Given the description of an element on the screen output the (x, y) to click on. 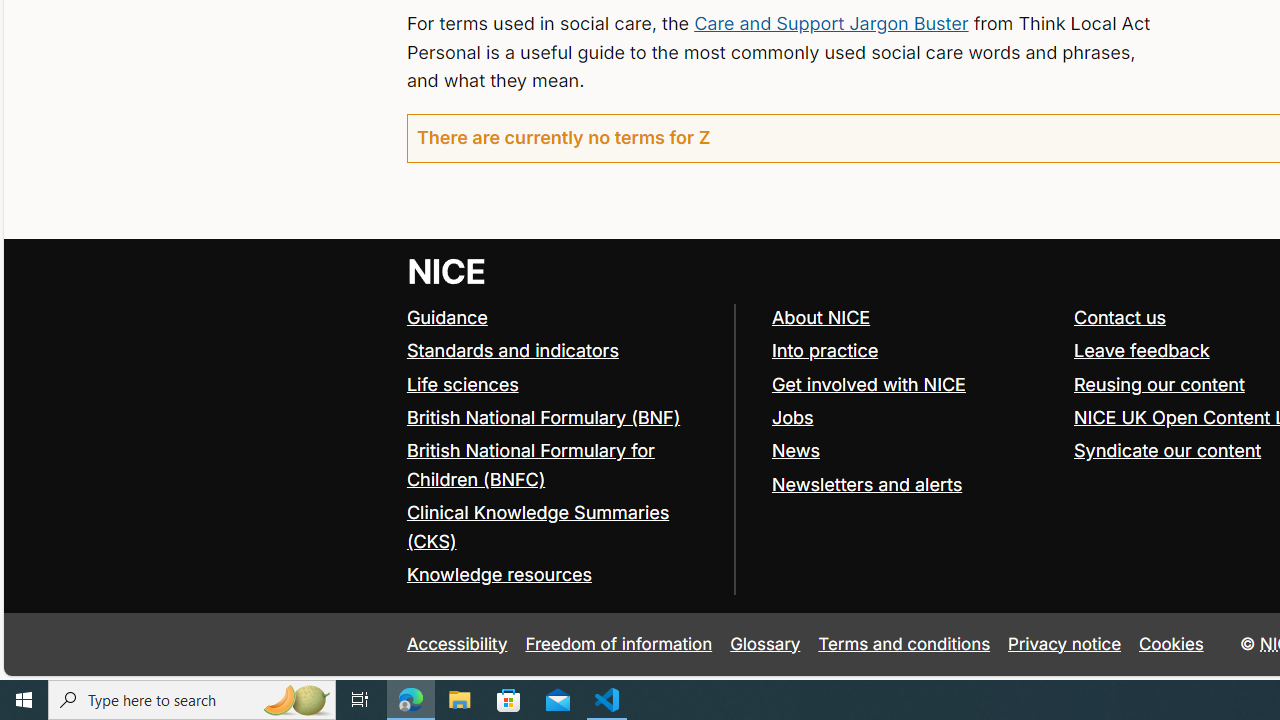
About NICE (913, 317)
Get involved with NICE (913, 385)
Care and Support Jargon Buster (830, 22)
About NICE (820, 317)
Cookies (1171, 644)
Knowledge resources (498, 574)
Syndicate our content (1167, 450)
Reusing our content (1159, 383)
Accessibility (456, 644)
Privacy notice (1065, 644)
British National Formulary for Children (BNFC) (560, 466)
Freedom of information (618, 644)
Glossary (765, 644)
